Given the description of an element on the screen output the (x, y) to click on. 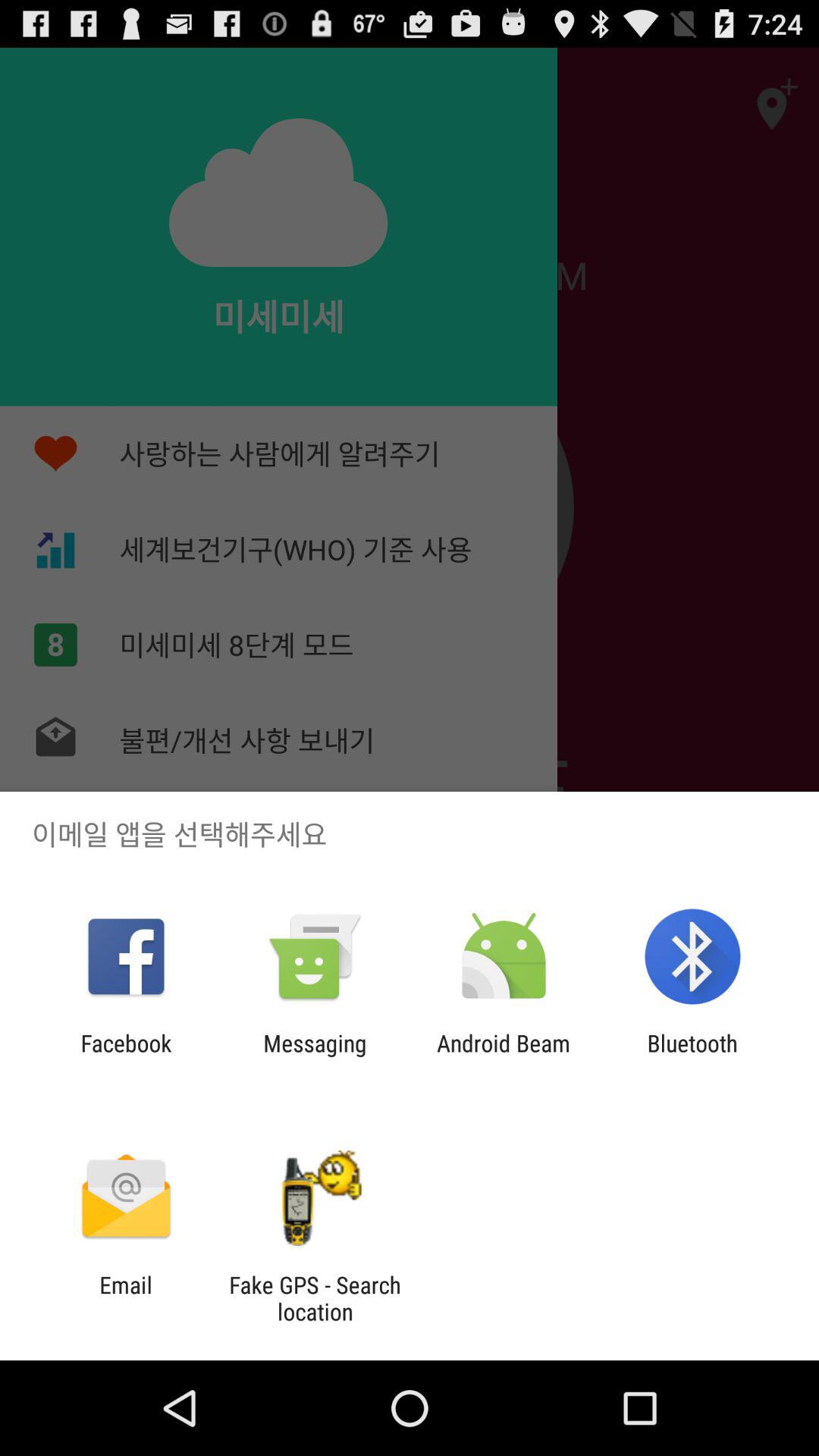
turn on the item to the right of email icon (314, 1298)
